Given the description of an element on the screen output the (x, y) to click on. 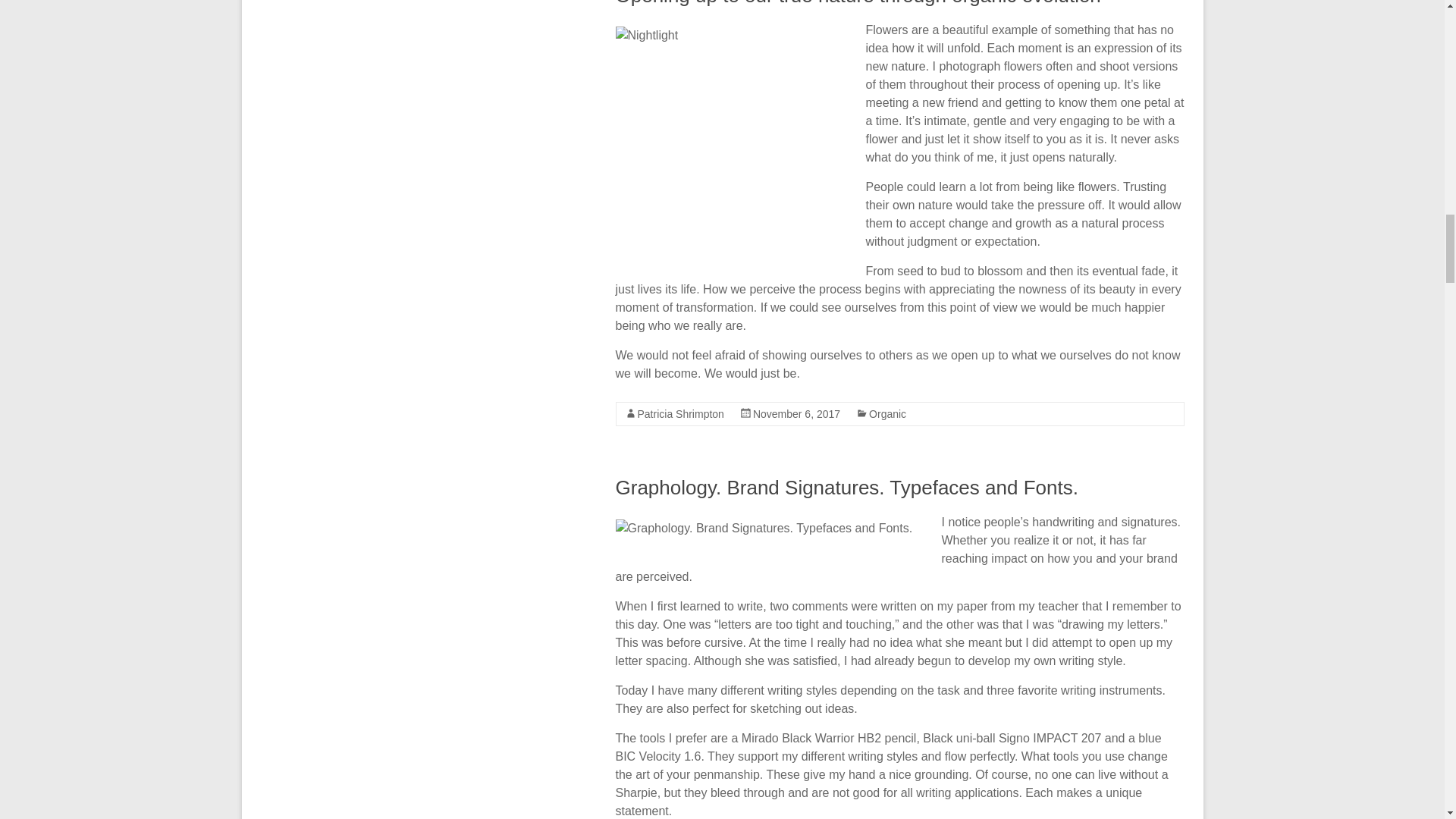
2:31 pm (796, 413)
Opening up to our true nature through organic evolution (857, 3)
Graphology. Brand Signatures. Typefaces and Fonts. (846, 486)
